Given the description of an element on the screen output the (x, y) to click on. 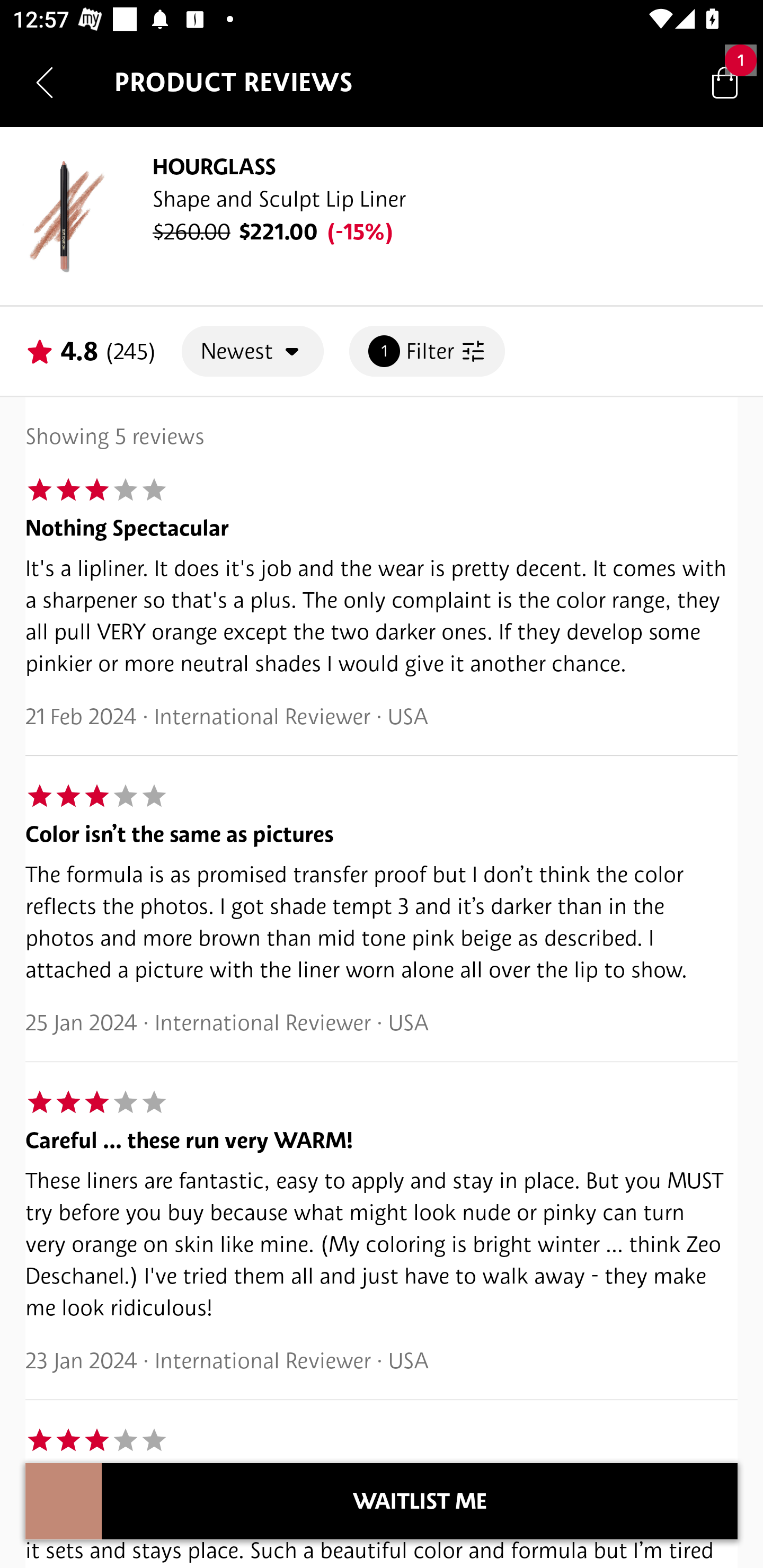
Navigate up (44, 82)
Bag (724, 81)
Newest (252, 351)
1 Filter (427, 351)
WAITLIST ME (419, 1500)
